Given the description of an element on the screen output the (x, y) to click on. 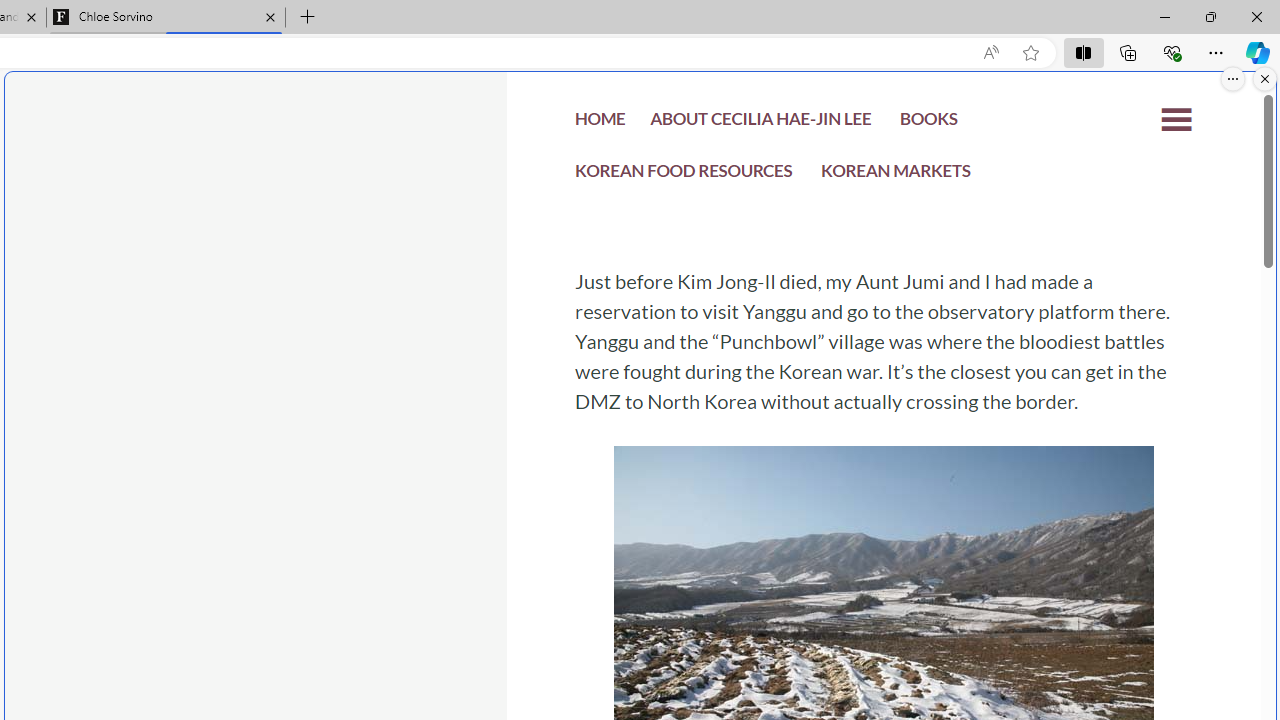
KOREAN MARKETS (895, 175)
HOME (599, 121)
KOREAN FOOD RESOURCES (683, 175)
BOOKS (928, 121)
ABOUT CECILIA HAE-JIN LEE (760, 121)
HOME (599, 124)
